Given the description of an element on the screen output the (x, y) to click on. 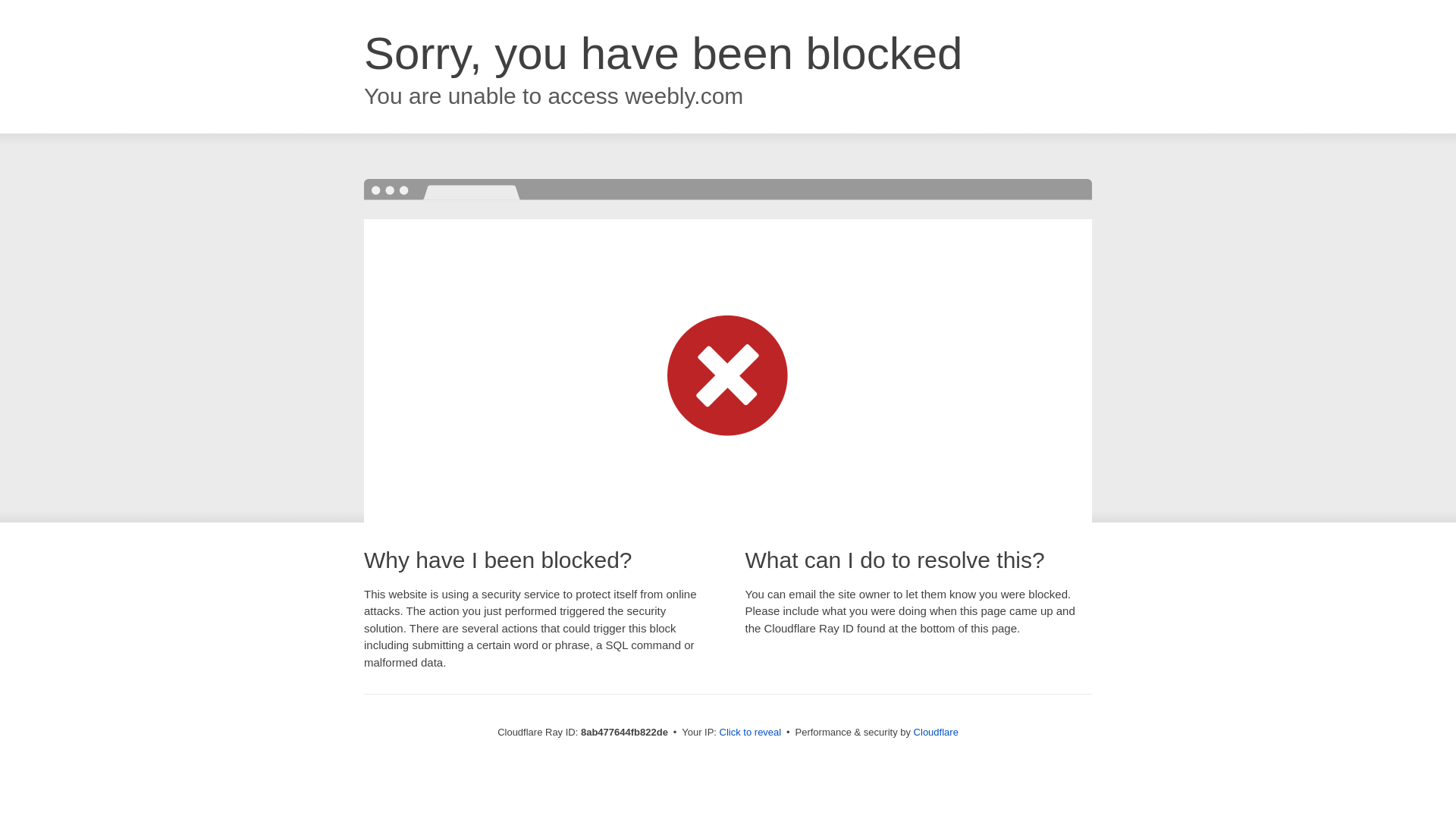
Cloudflare (936, 731)
Click to reveal (750, 732)
